Given the description of an element on the screen output the (x, y) to click on. 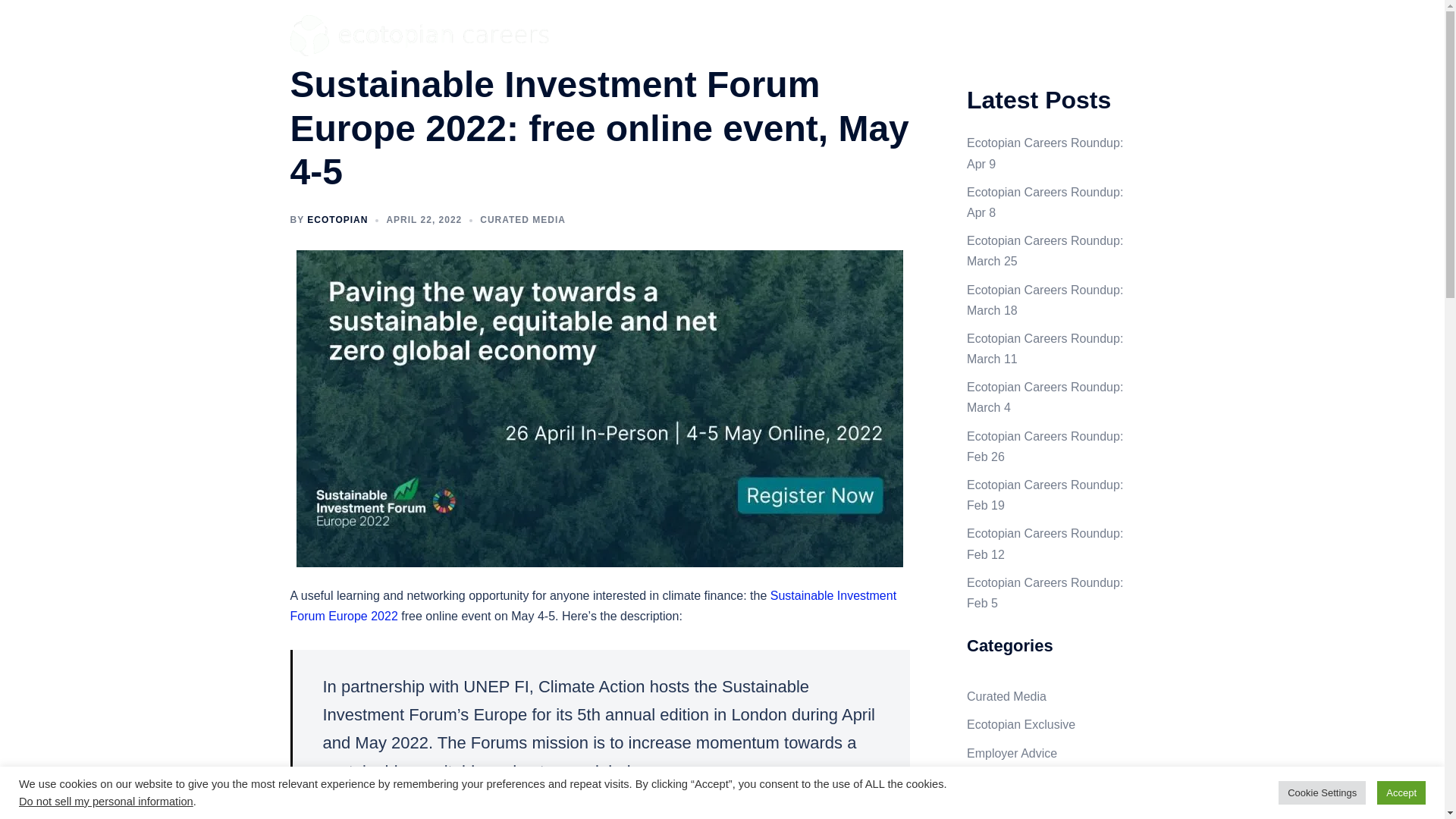
CURATED MEDIA (523, 219)
Our Story (1121, 33)
Ecotopian Careers Roundup: Feb 5 (1044, 592)
Ecotopian Careers Roundup: March 25 (1044, 250)
Ecotopian Careers (425, 33)
For Jobseekers (884, 33)
Cookie Settings (1321, 792)
Latest Posts (971, 33)
Ecotopian Exclusive (1020, 724)
Free eBook (1049, 33)
